Given the description of an element on the screen output the (x, y) to click on. 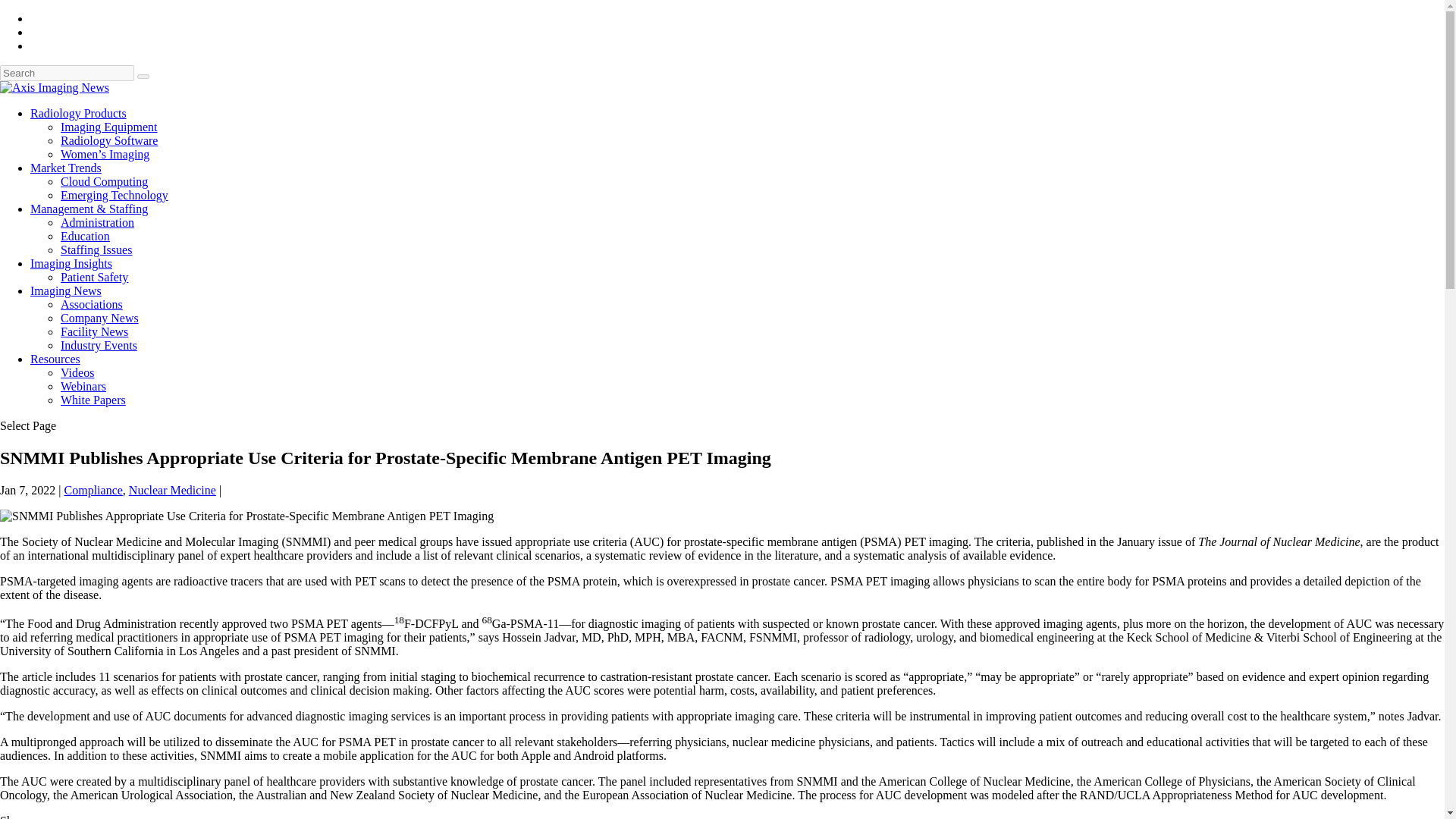
Radiology Products (78, 113)
Industry Events (98, 345)
Compliance (93, 490)
Videos (77, 372)
Market Trends (65, 167)
Search for: (66, 73)
Nuclear Medicine (172, 490)
Webinars (83, 386)
Administration (97, 222)
Cloud Computing (104, 181)
White Papers (93, 399)
Emerging Technology (114, 195)
Patient Safety (94, 277)
Radiology Software (109, 140)
Imaging Equipment (109, 126)
